Given the description of an element on the screen output the (x, y) to click on. 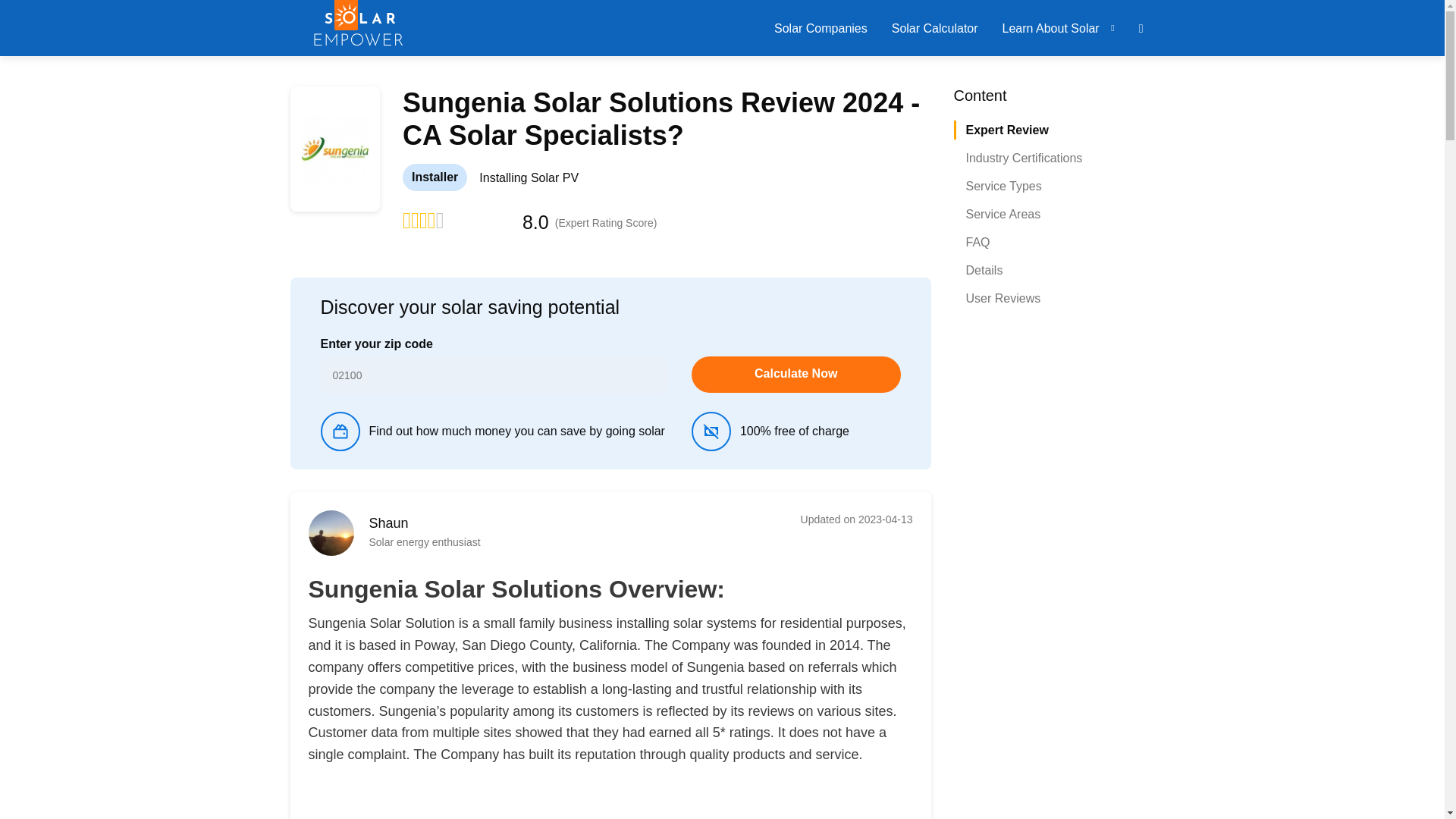
Solar Companies (820, 27)
Learn About Solar (1051, 27)
Solar Companies (820, 27)
Calculate Now (796, 374)
Solar Calculator (934, 27)
Sungenia Solar Solutions Review 2024 - CA Solar Specialists? (334, 148)
Learn About Solar (1051, 27)
Solar Calculator (934, 27)
Expert Review (1007, 129)
